Given the description of an element on the screen output the (x, y) to click on. 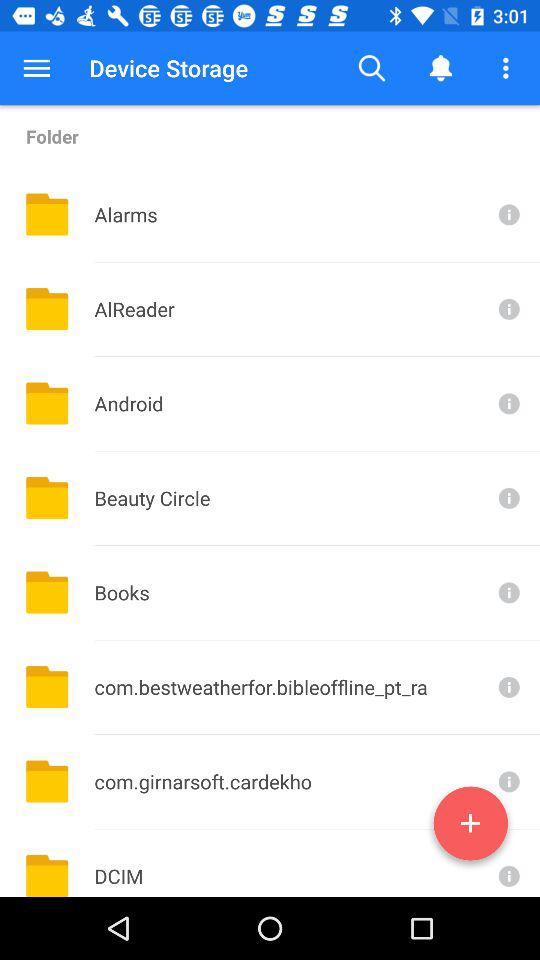
for more info (507, 403)
